Given the description of an element on the screen output the (x, y) to click on. 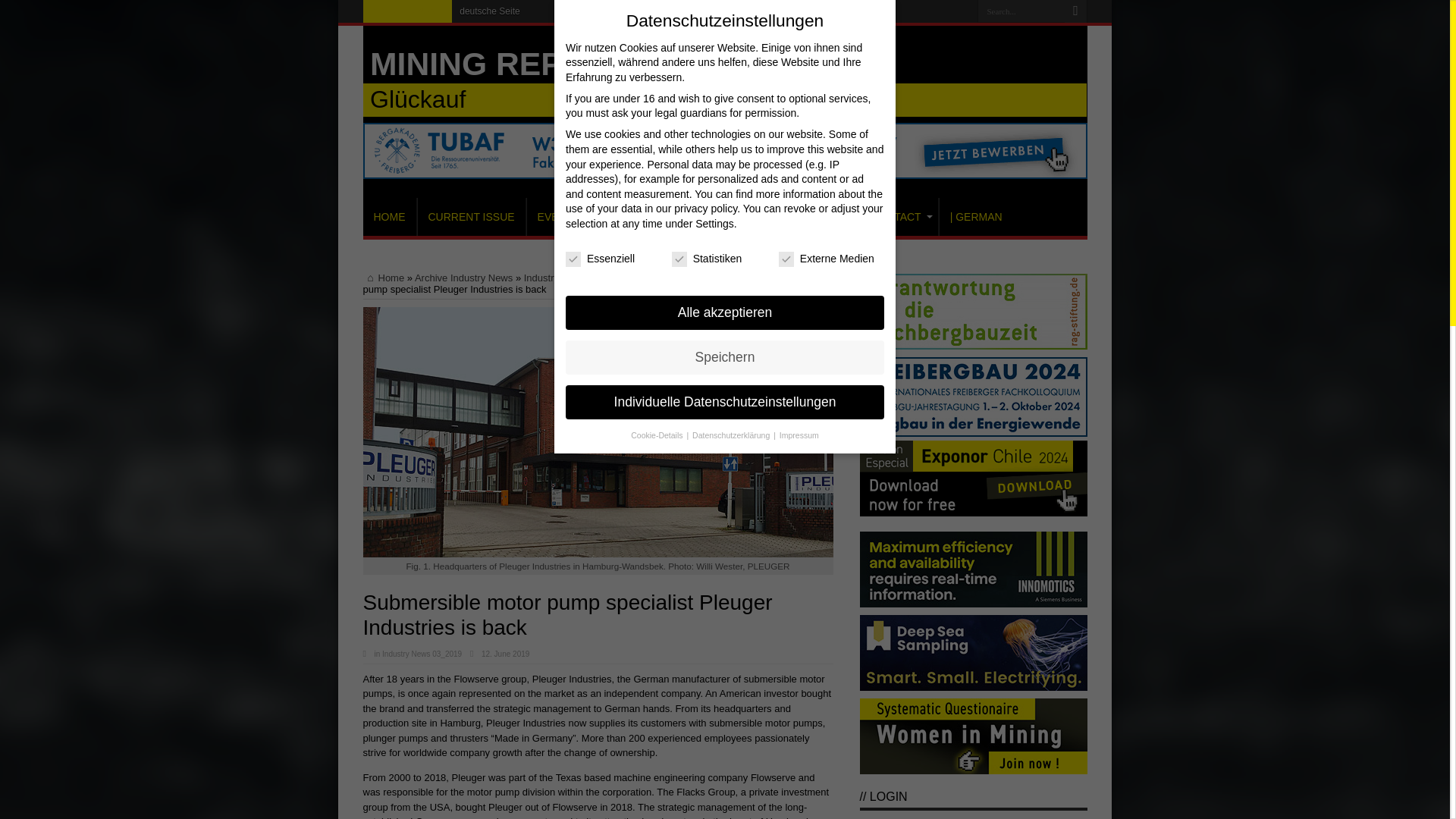
Events (558, 216)
deutsche Seite (489, 11)
Search (1075, 11)
Search... (1020, 11)
